Given the description of an element on the screen output the (x, y) to click on. 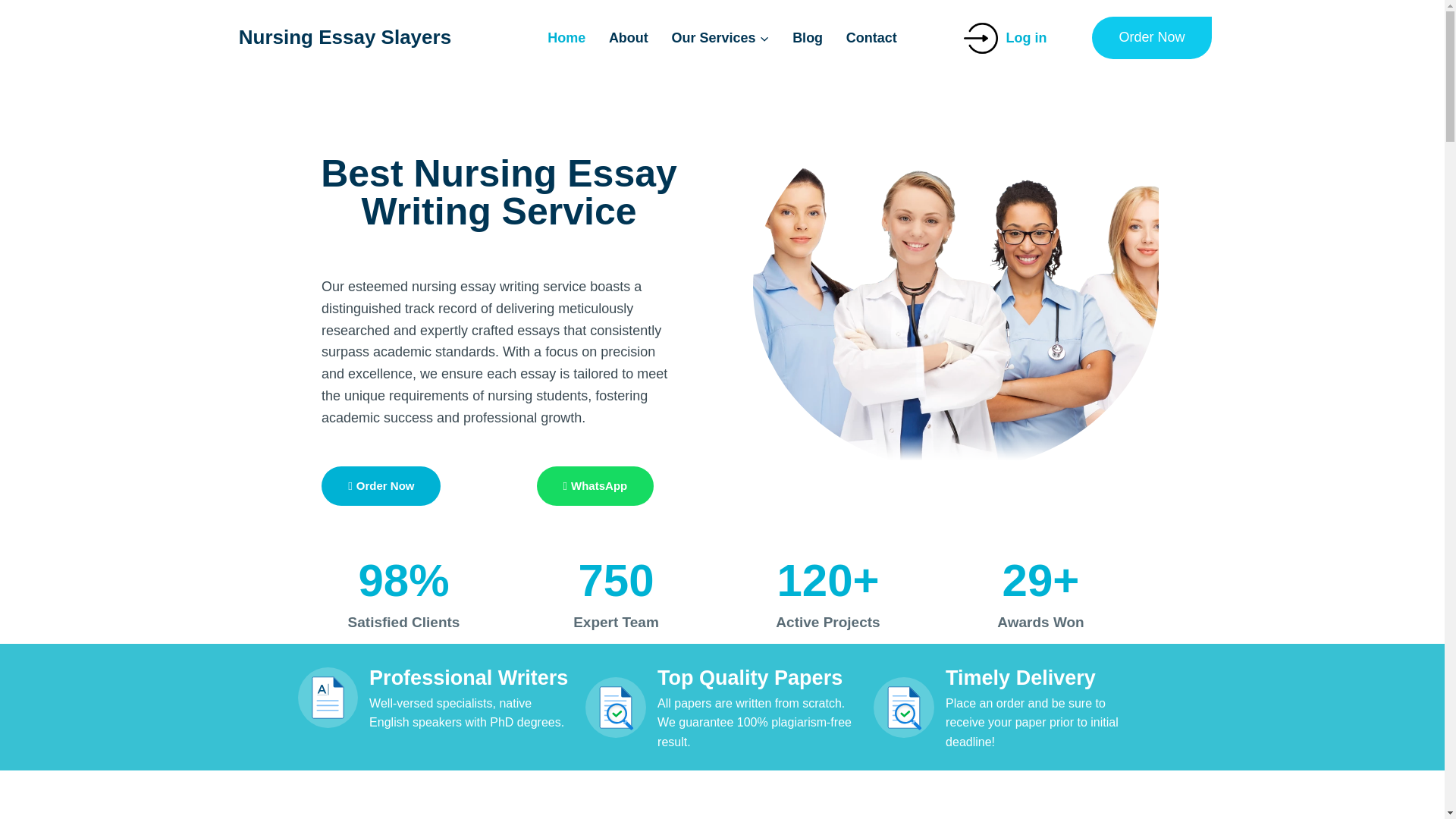
Blog (807, 37)
About (628, 37)
Home (565, 37)
Order Now (1151, 37)
Log in (1015, 37)
 Nursing Essay Slayers (341, 37)
Contact (871, 37)
Order Now (381, 486)
Our Services (719, 37)
WhatsApp (595, 486)
Best Nursing Essay Writing Service (498, 192)
